Given the description of an element on the screen output the (x, y) to click on. 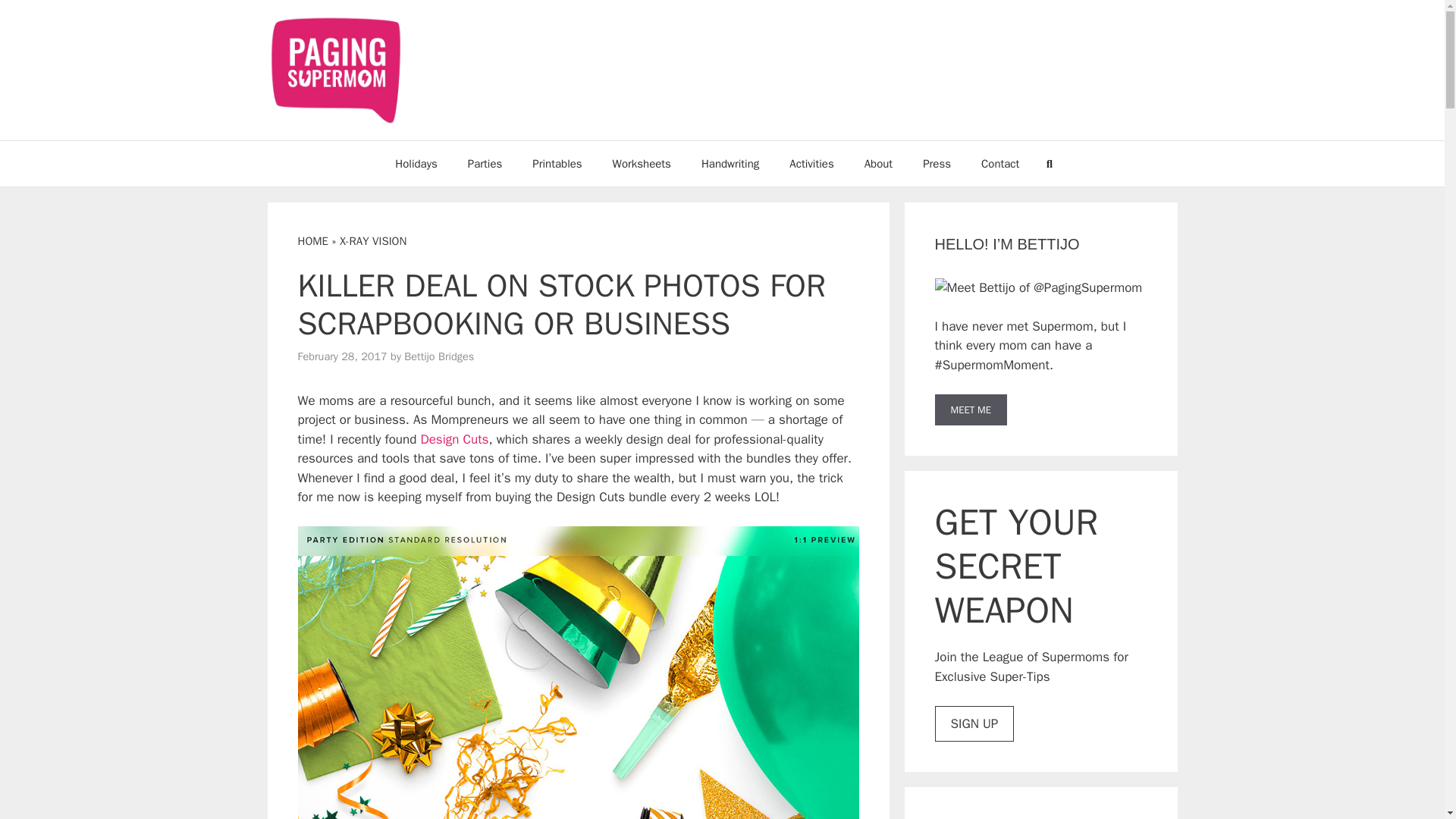
Design Cuts (453, 439)
HOME (312, 241)
Bettijo Bridges (439, 356)
Parties (485, 163)
X-RAY VISION (372, 241)
Worksheets (640, 163)
Activities (811, 163)
View all posts by Bettijo Bridges (439, 356)
Holidays (415, 163)
